Given the description of an element on the screen output the (x, y) to click on. 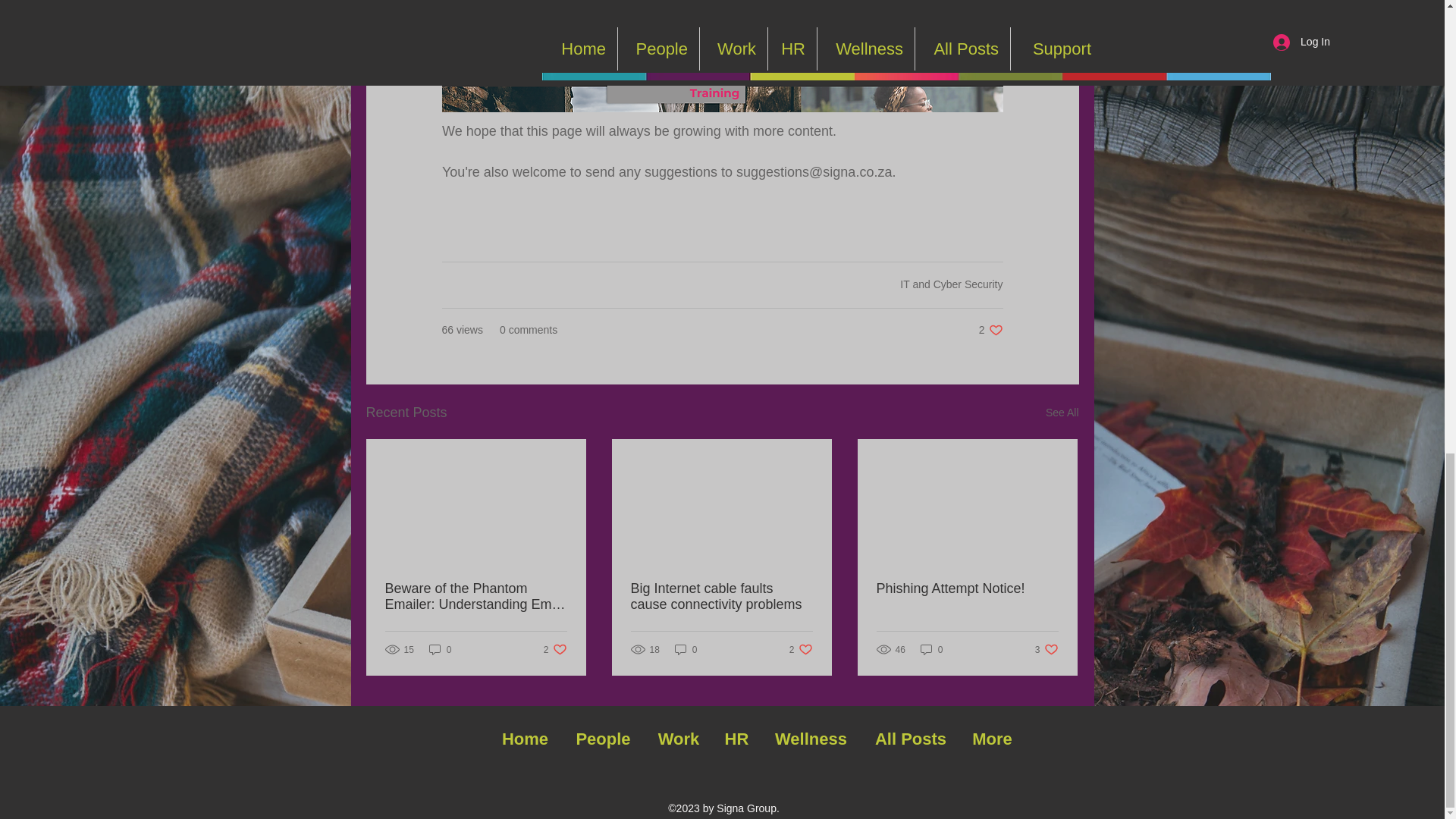
IT and Cyber Security (990, 329)
See All (951, 284)
0 (1061, 413)
